Given the description of an element on the screen output the (x, y) to click on. 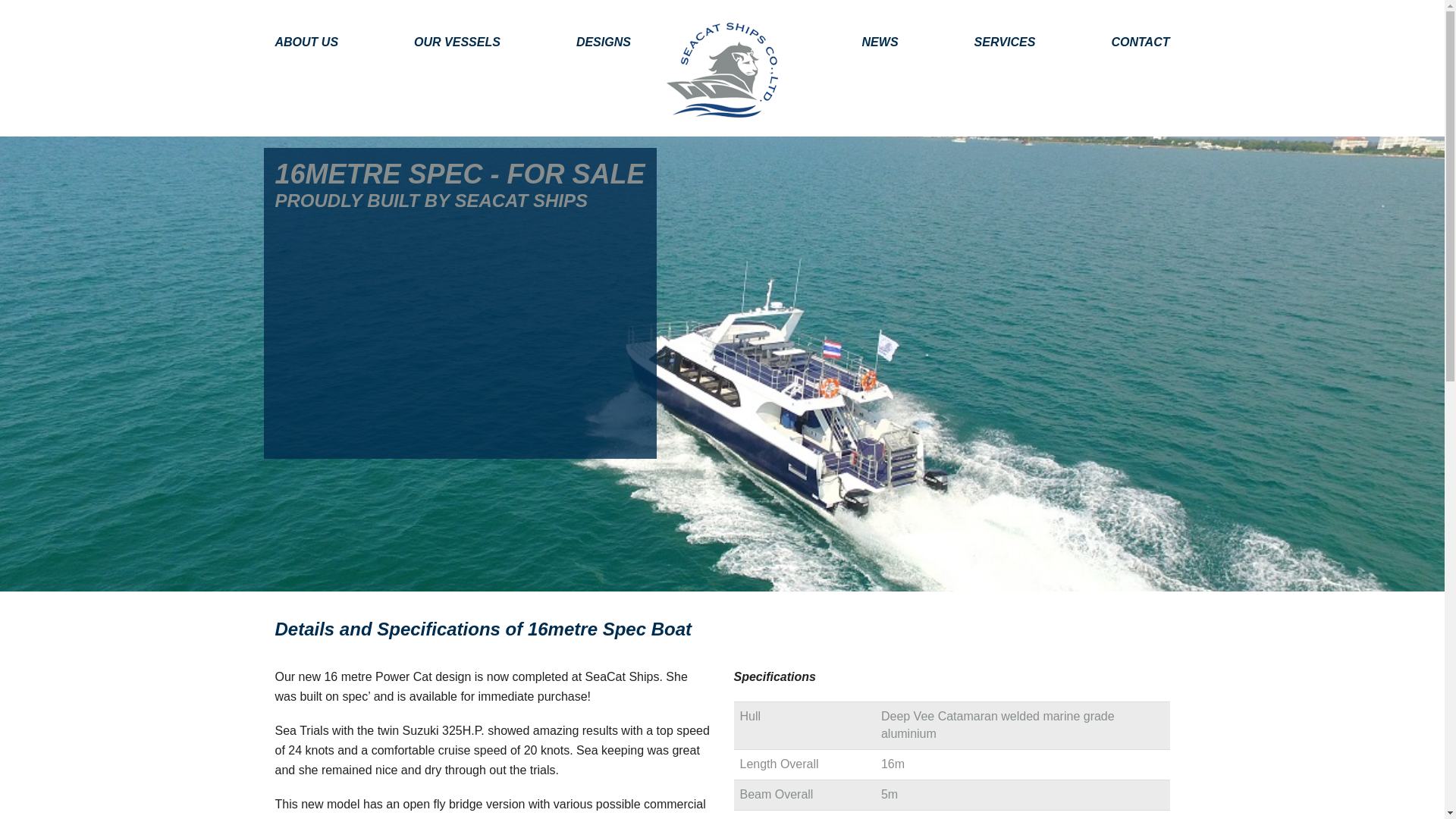
SERVICES (1005, 42)
OUR VESSELS (456, 42)
NEWS (880, 42)
CONTACT (1121, 42)
ABOUT US (325, 42)
Seacat Ships (721, 69)
DESIGNS (603, 42)
